Given the description of an element on the screen output the (x, y) to click on. 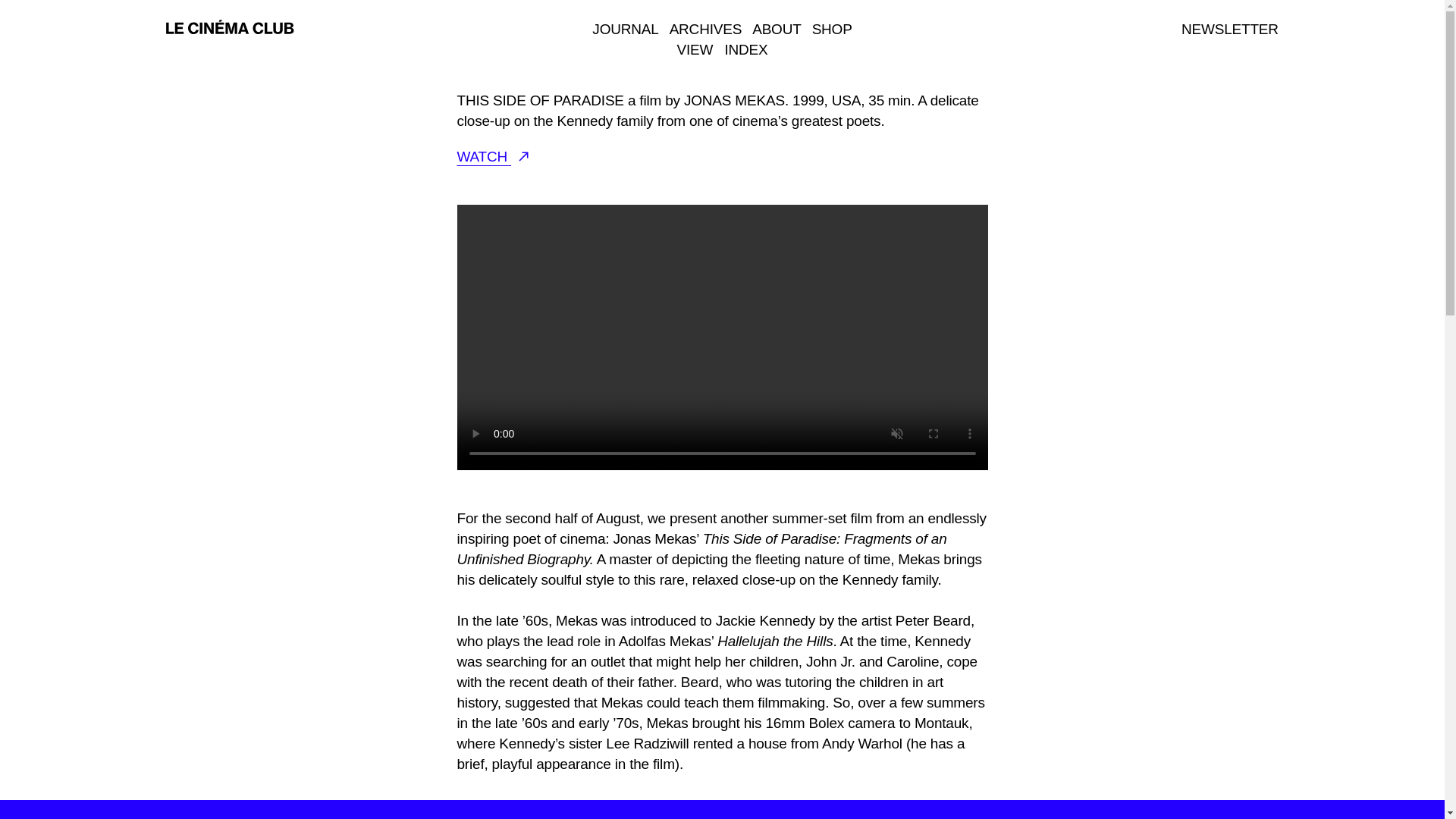
JOURNAL (625, 28)
INDEX (745, 49)
VIEW (695, 49)
SHOP (831, 28)
WATCH (492, 156)
NEWSLETTER (1229, 28)
ARCHIVES (705, 28)
ABOUT (776, 28)
